Given the description of an element on the screen output the (x, y) to click on. 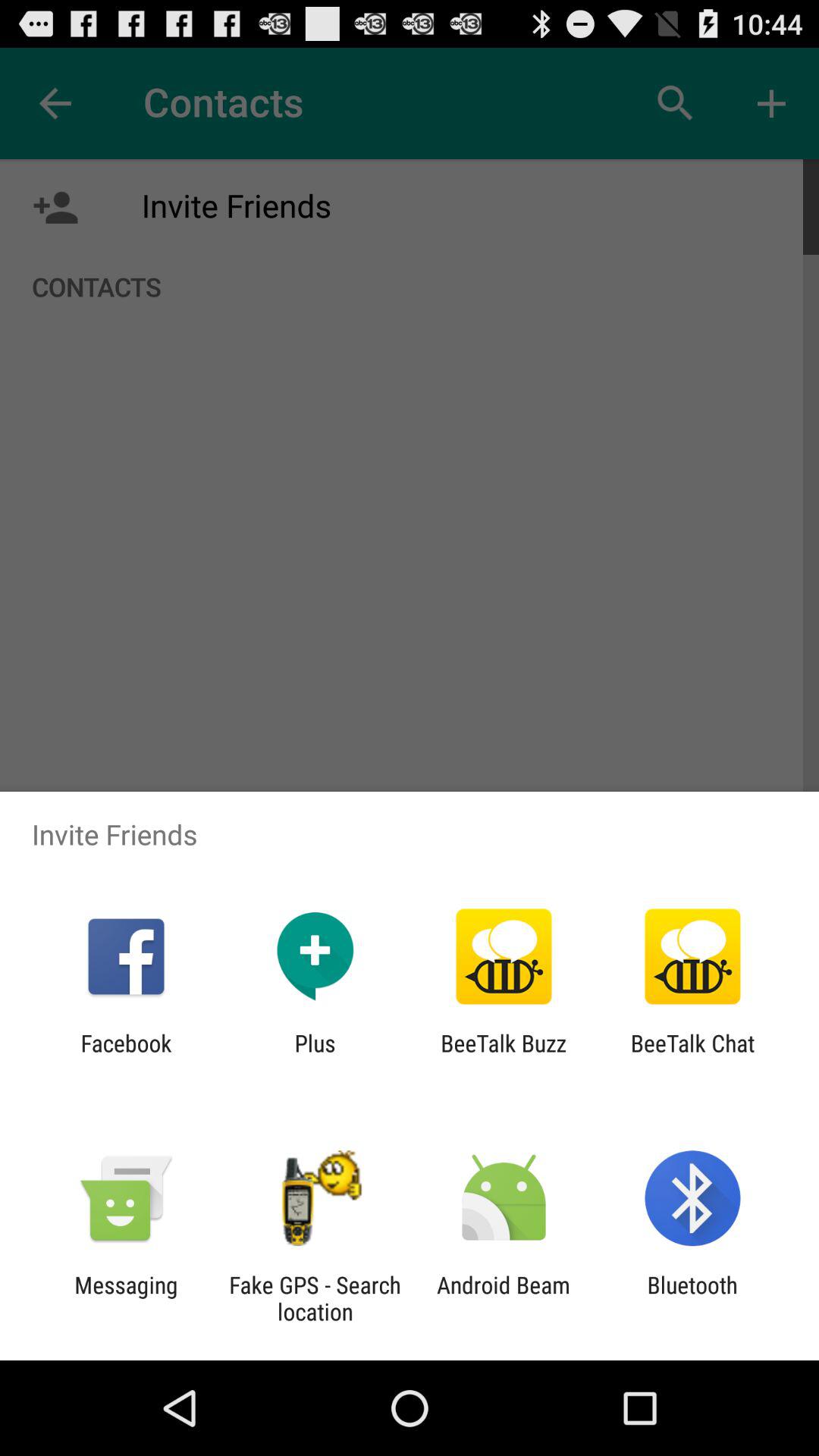
turn off icon next to the bluetooth (503, 1298)
